Given the description of an element on the screen output the (x, y) to click on. 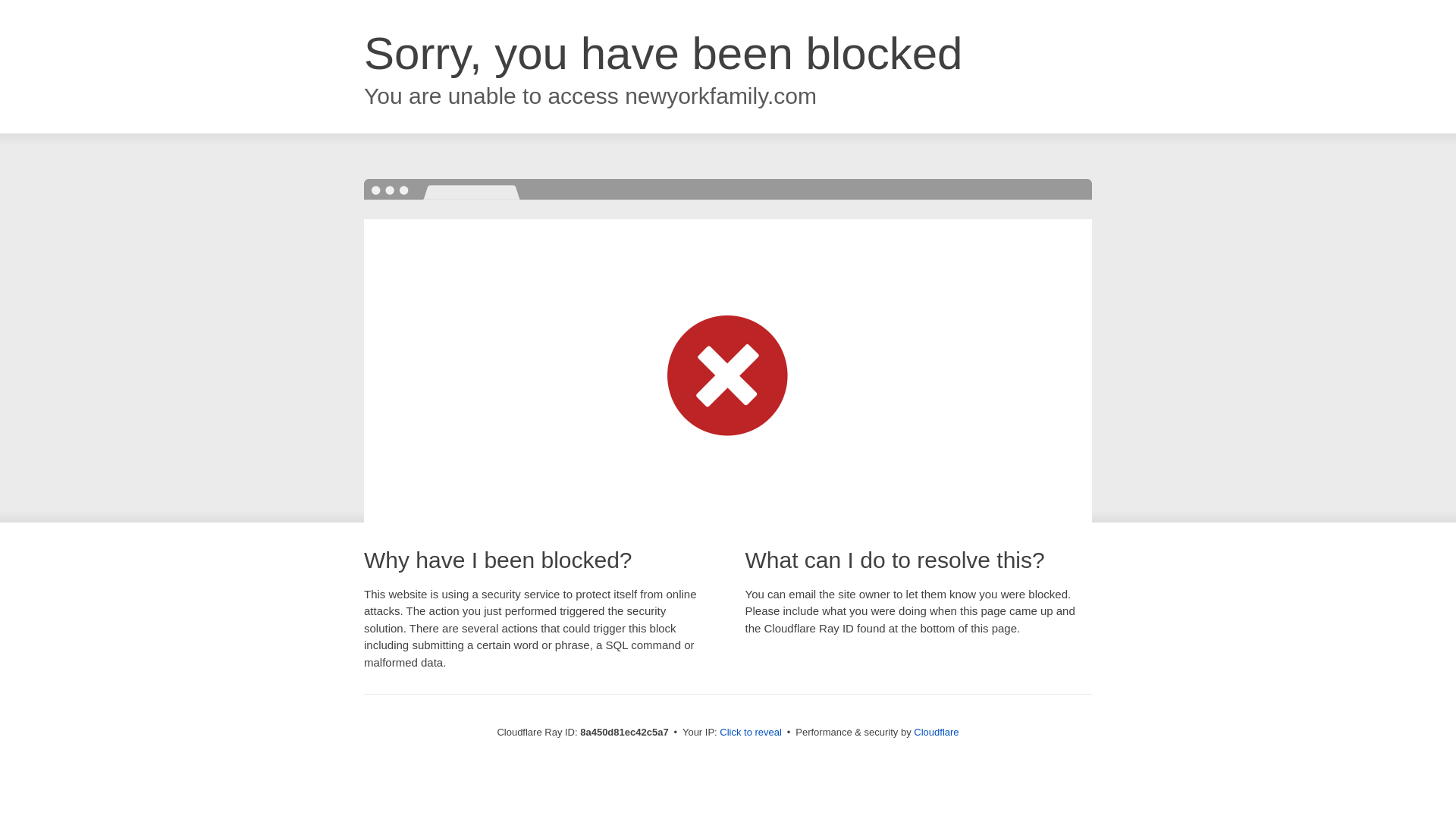
Cloudflare (936, 731)
Click to reveal (750, 732)
